Given the description of an element on the screen output the (x, y) to click on. 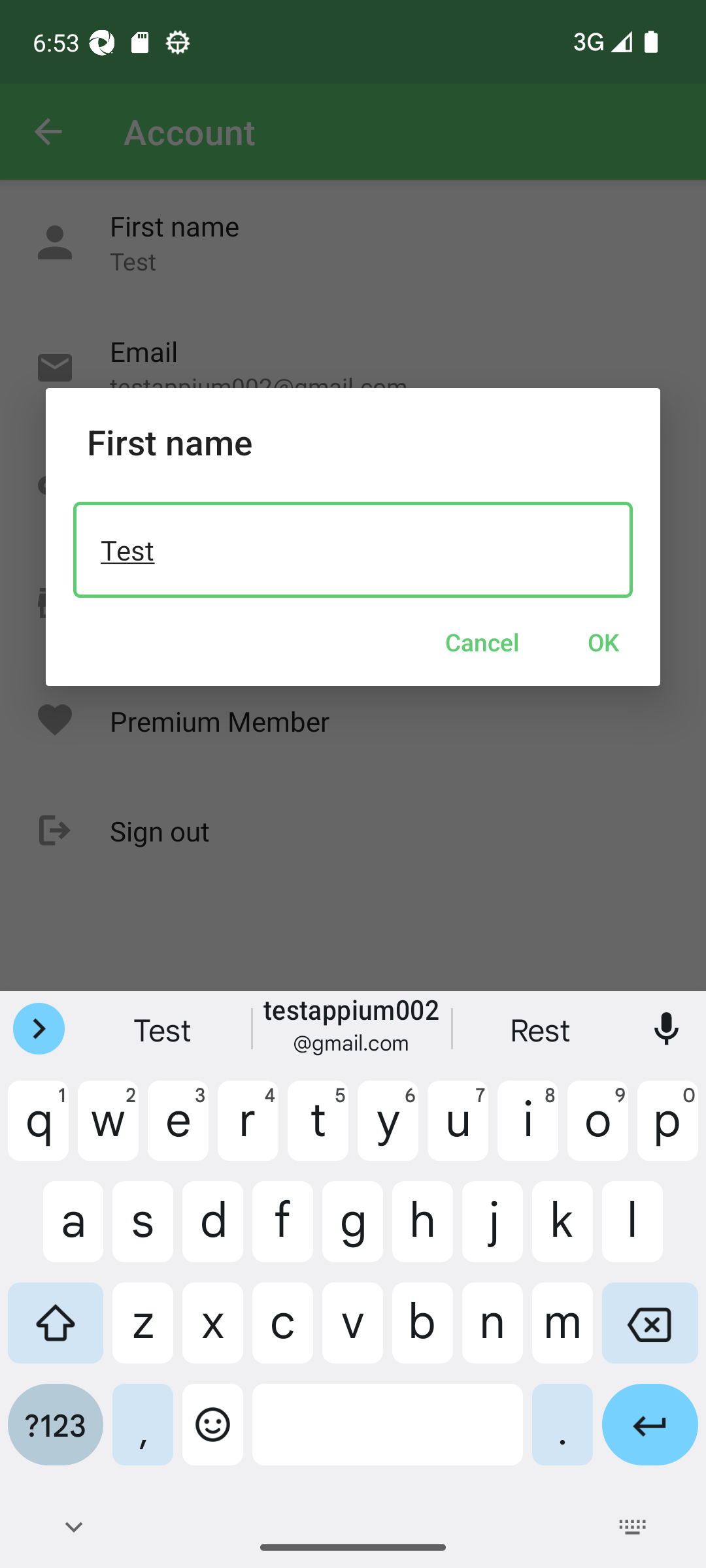
Test (352, 549)
Cancel (481, 641)
OK (603, 641)
